Given the description of an element on the screen output the (x, y) to click on. 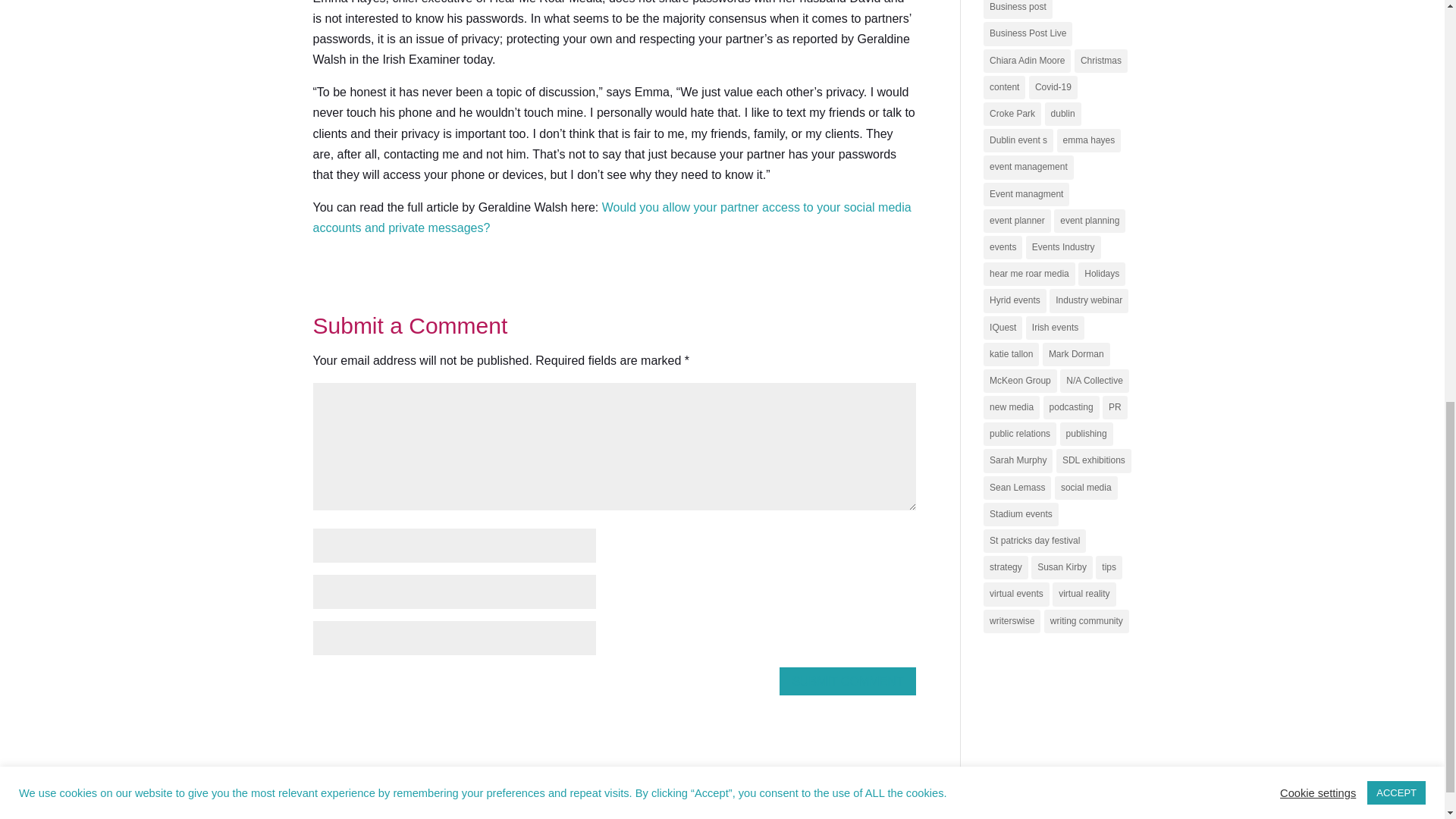
content (1004, 87)
Business post (1018, 9)
Submit Comment (846, 681)
Christmas (1100, 60)
Submit Comment (846, 681)
Covid-19 (1053, 87)
Chiara Adin Moore (1027, 60)
Business Post Live (1027, 33)
Croke Park (1012, 114)
